Given the description of an element on the screen output the (x, y) to click on. 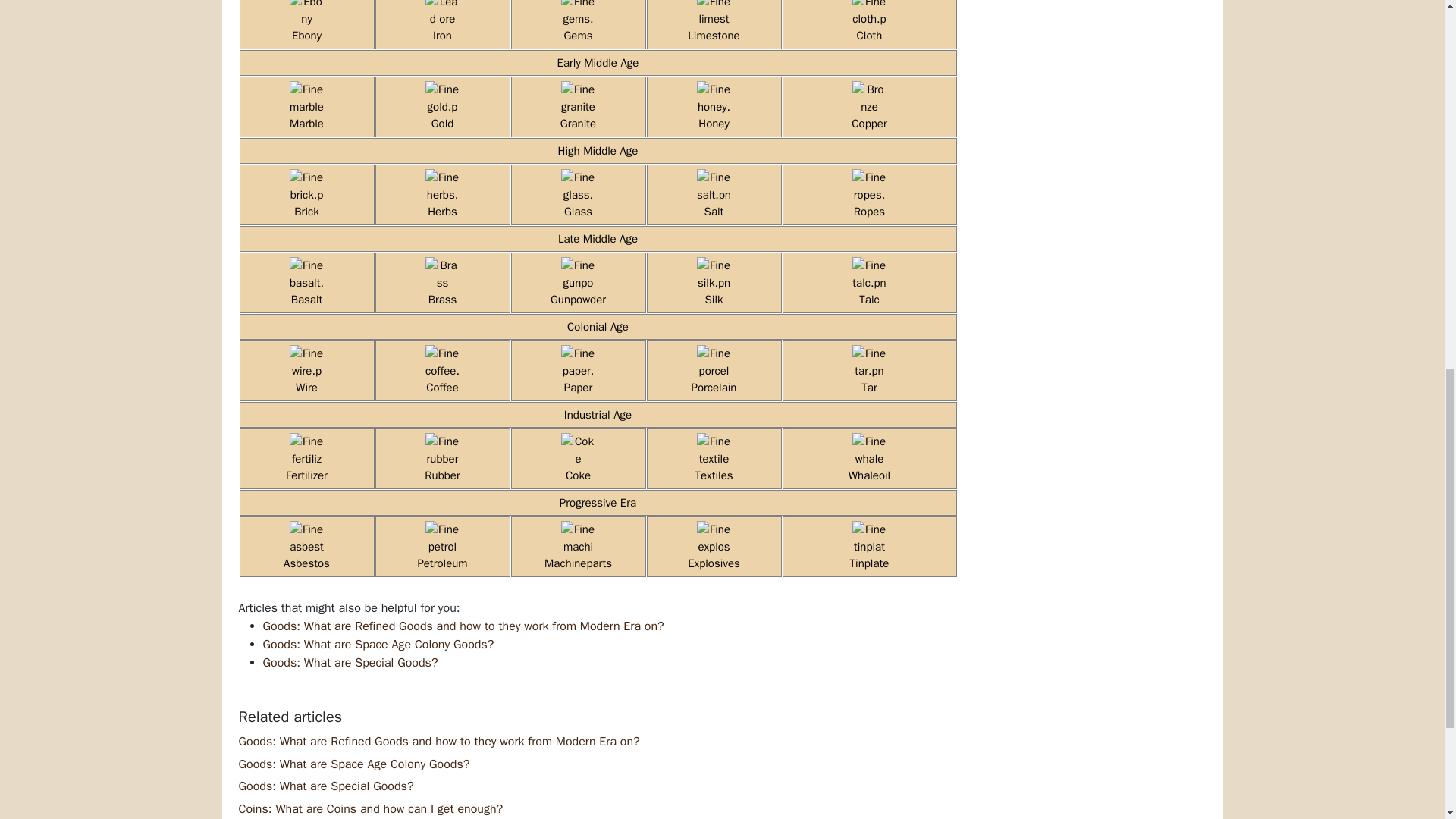
Goods: What are Special Goods? (350, 662)
Goods: What are Special Goods? (325, 785)
Coins: What are Coins and how can I get enough? (370, 808)
Goods: What are Space Age Colony Goods? (353, 764)
Goods: What are Space Age Colony Goods? (377, 644)
